Given the description of an element on the screen output the (x, y) to click on. 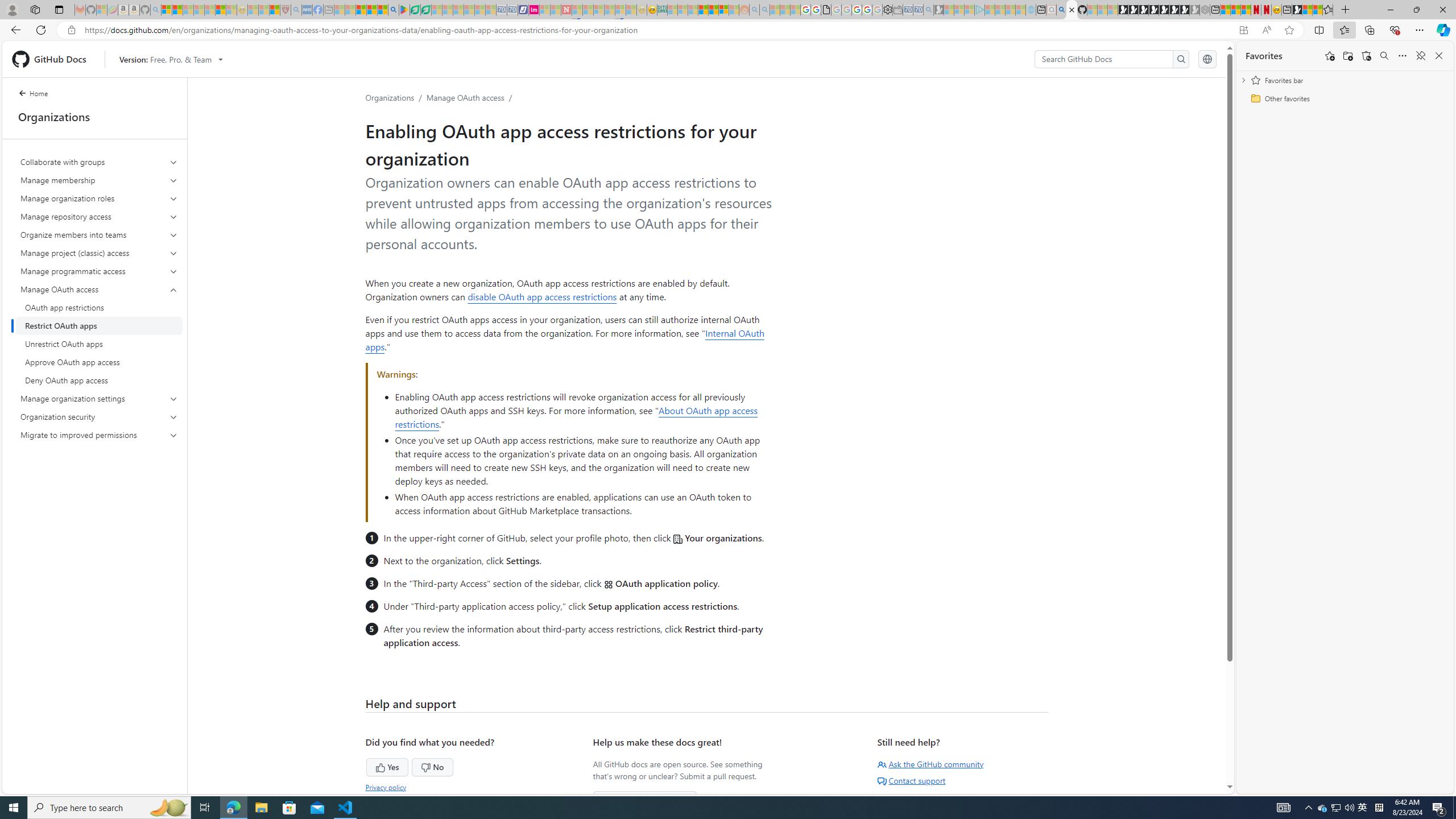
Microsoft Start Gaming - Sleeping (938, 9)
Make a contribution (644, 800)
Jobs - lastminute.com Investor Portal (534, 9)
Collaborate with groups (99, 162)
Cheap Hotels - Save70.com - Sleeping (512, 9)
Utah sues federal government - Search - Sleeping (764, 9)
Approve OAuth app access (99, 361)
